Given the description of an element on the screen output the (x, y) to click on. 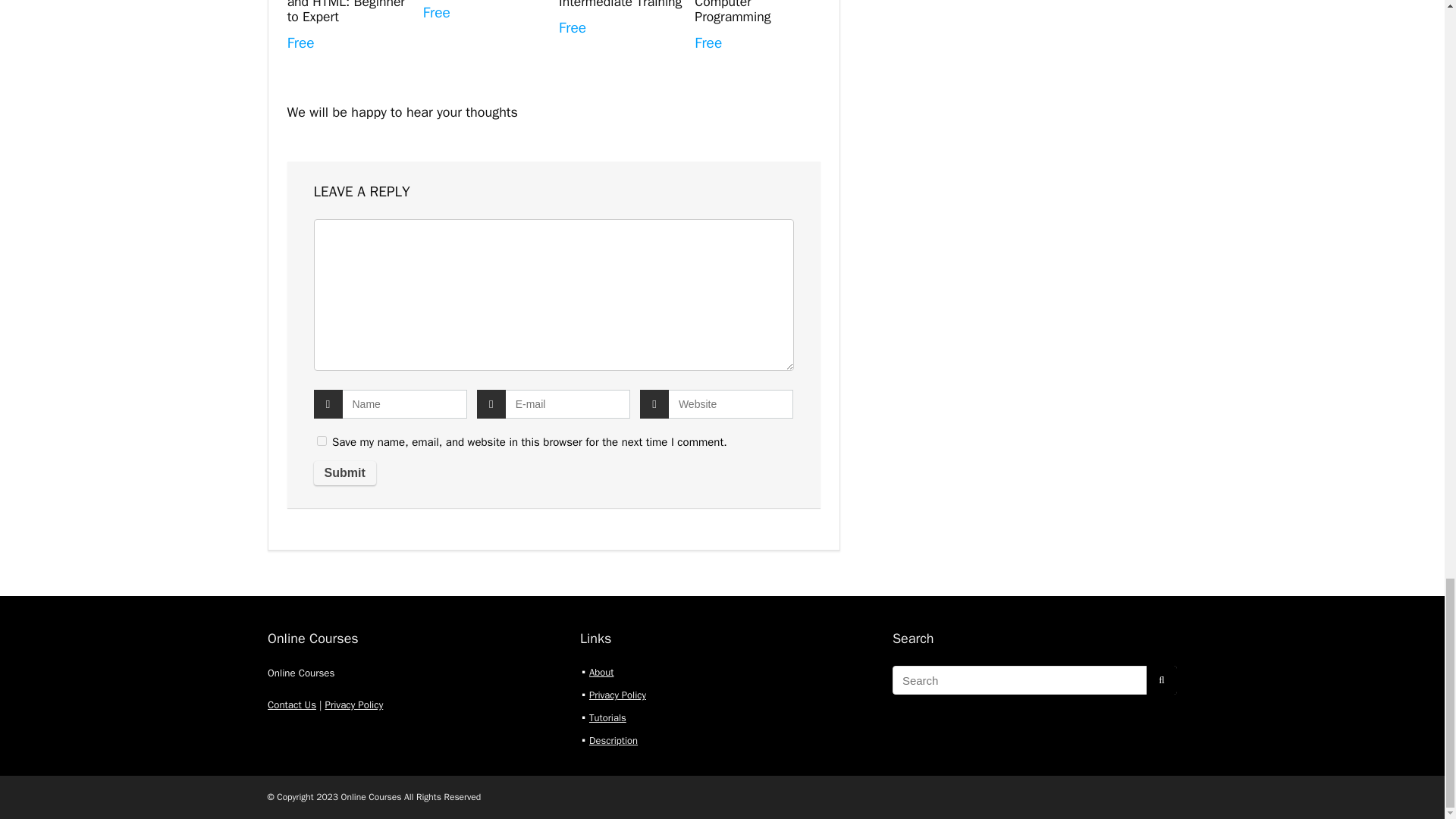
Submit (344, 473)
Coding Basics: Gentle Intro to Computer Programming (737, 12)
Submit (344, 473)
yes (321, 440)
